Given the description of an element on the screen output the (x, y) to click on. 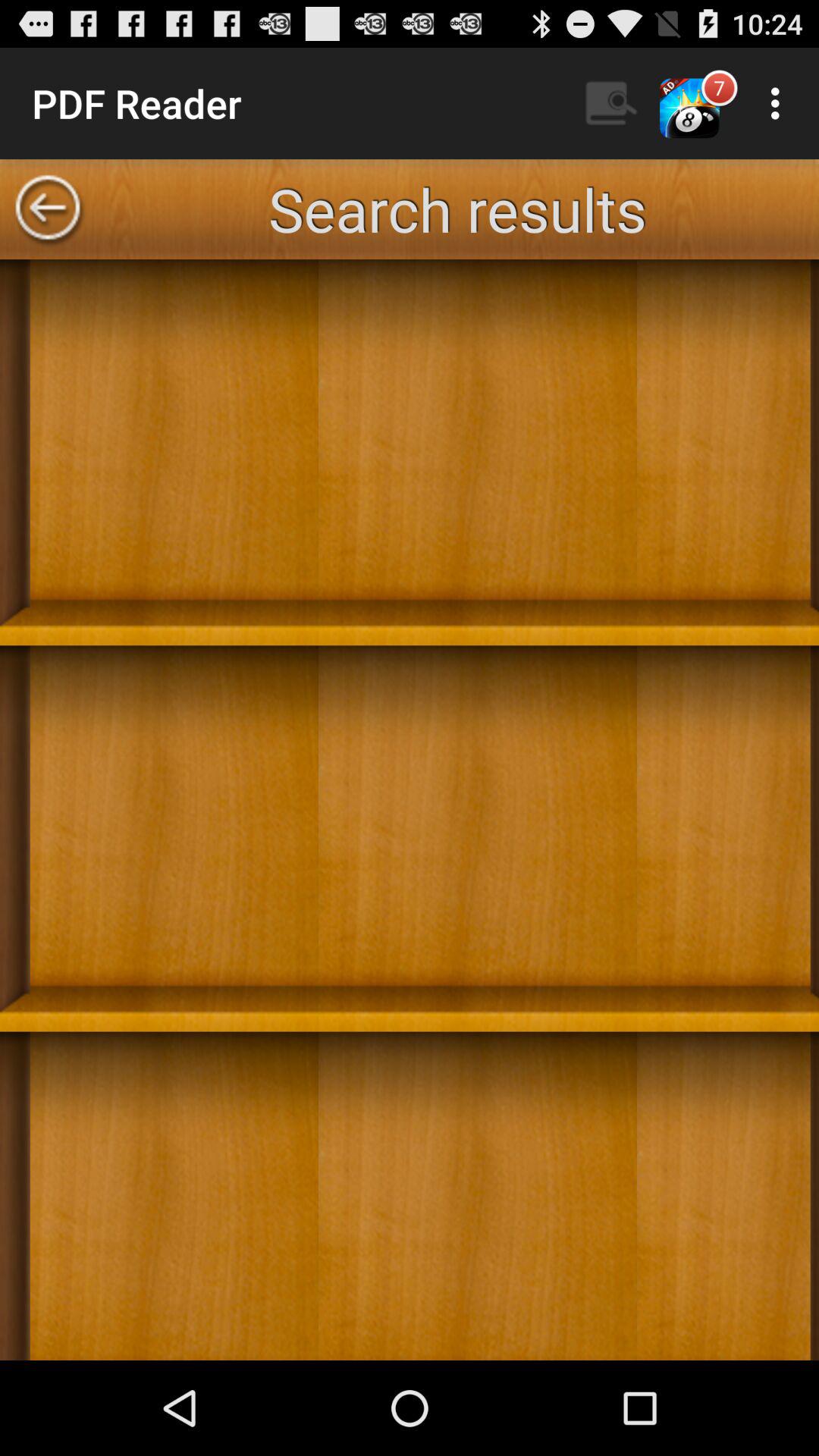
turn off the app at the top (457, 209)
